Given the description of an element on the screen output the (x, y) to click on. 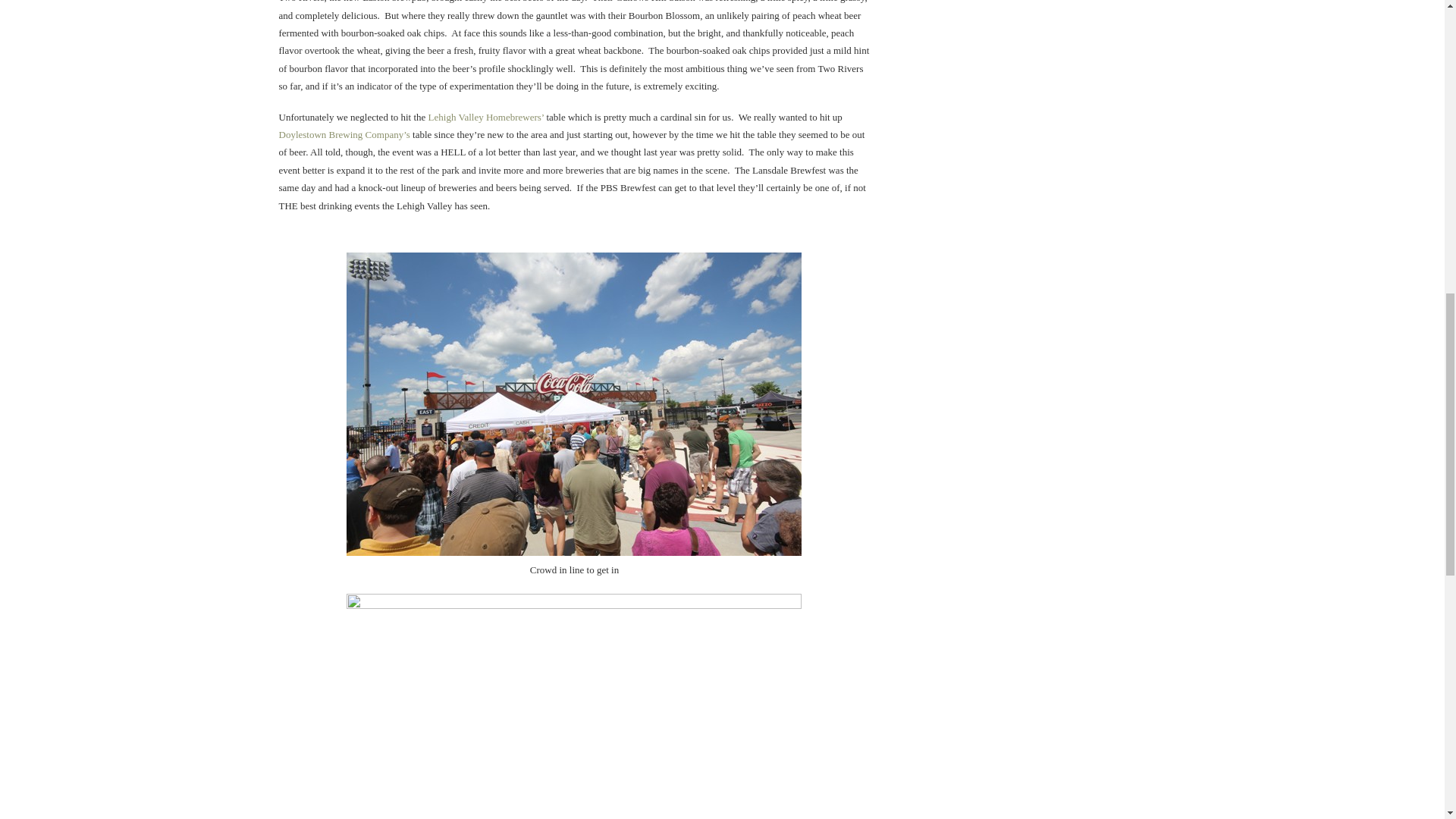
Picture 009 (574, 706)
